Given the description of an element on the screen output the (x, y) to click on. 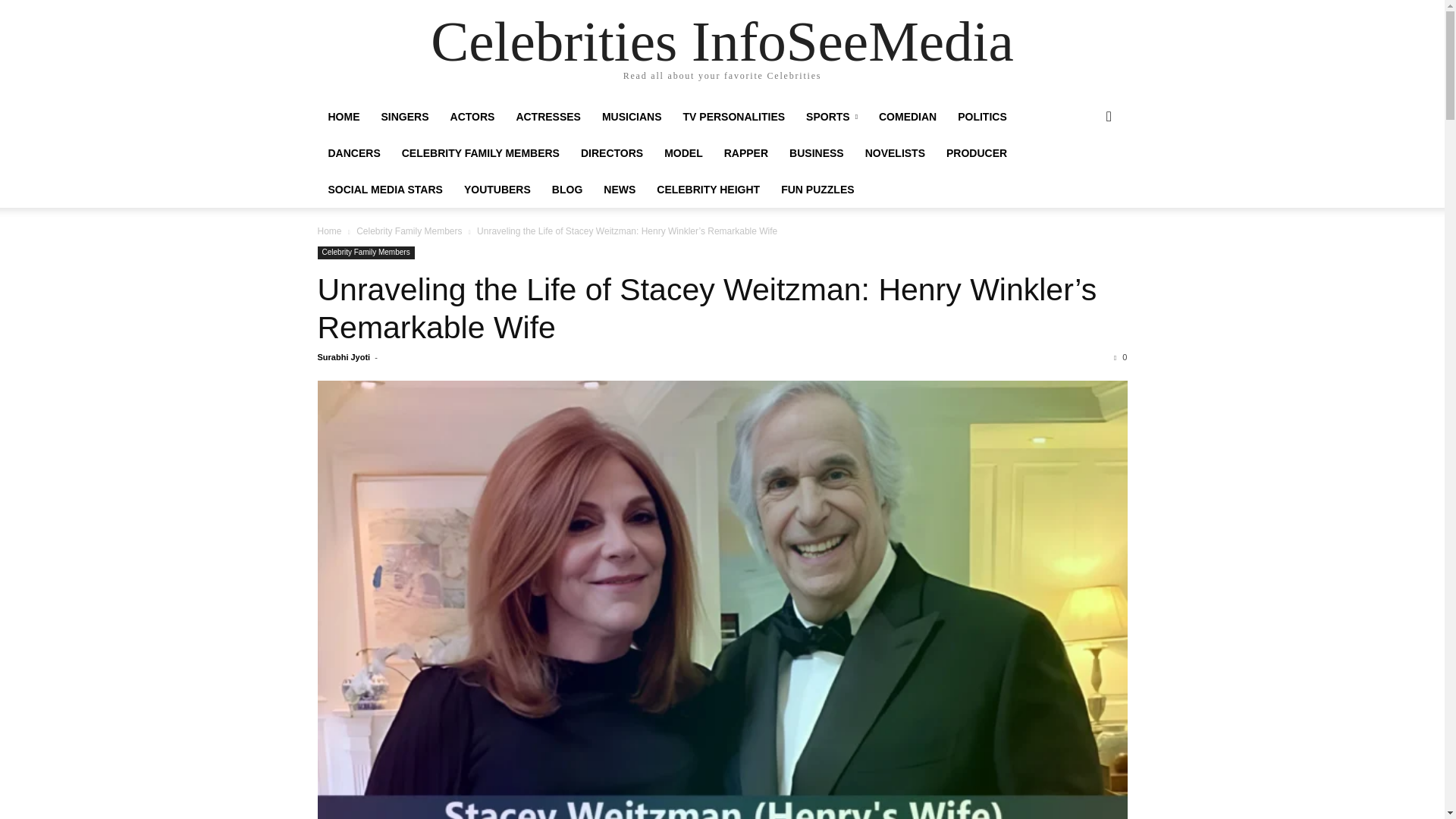
TV PERSONALITIES (734, 116)
SINGERS (404, 116)
HOME (343, 116)
ACTRESSES (548, 116)
ACTORS (472, 116)
Celebrities InfoSeeMedia (721, 41)
MUSICIANS (631, 116)
View all posts in Celebrity Family Members (408, 231)
